Given the description of an element on the screen output the (x, y) to click on. 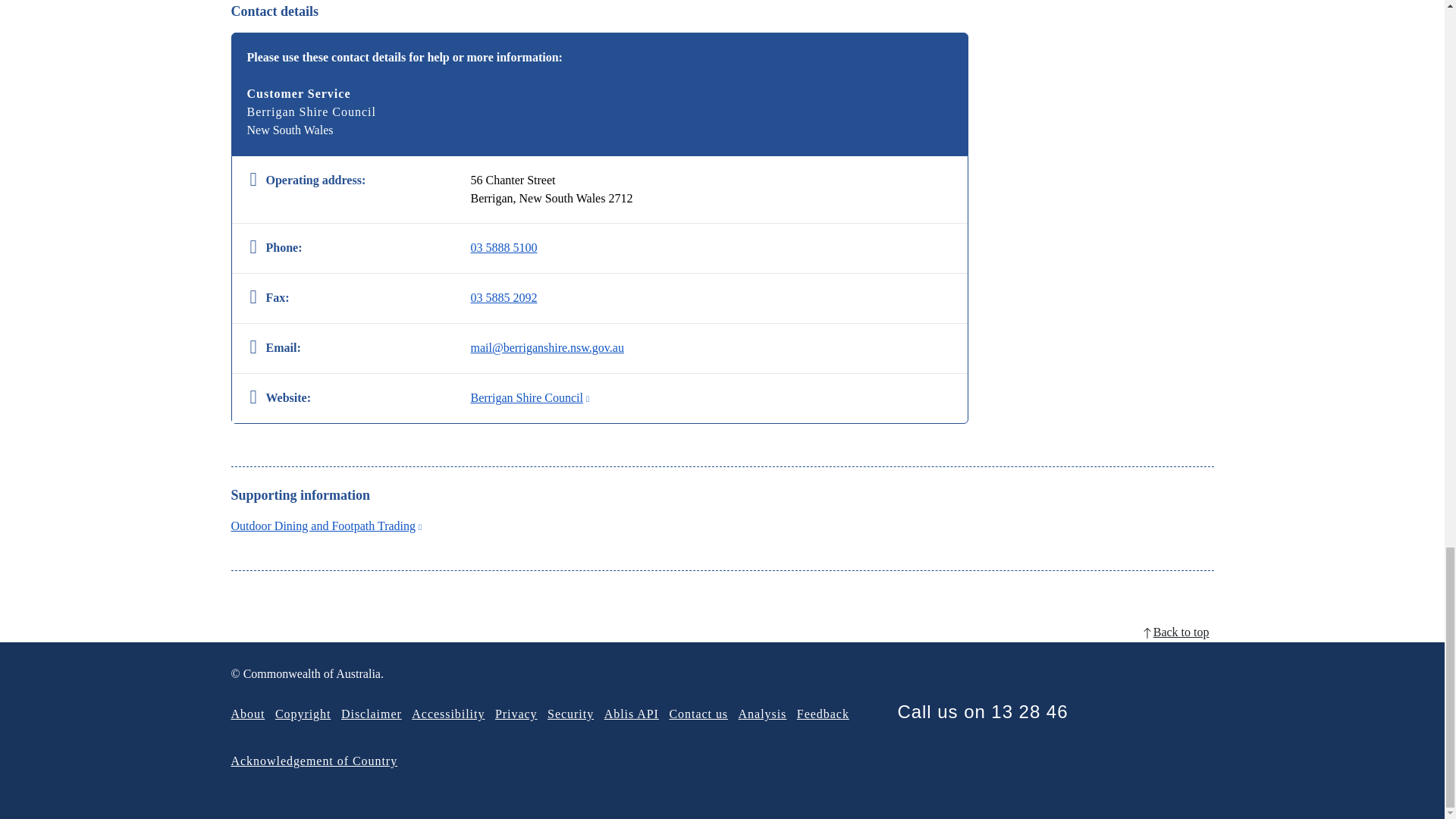
Contact us (698, 713)
About (247, 713)
Resources for this service (326, 525)
03 5885 2092 (503, 298)
Call us on 13 28 46 (981, 711)
Acknowledgement of Country (313, 760)
Disclaimer (370, 713)
Copyright (303, 713)
Accessibility (448, 713)
Analysis (762, 713)
